Given the description of an element on the screen output the (x, y) to click on. 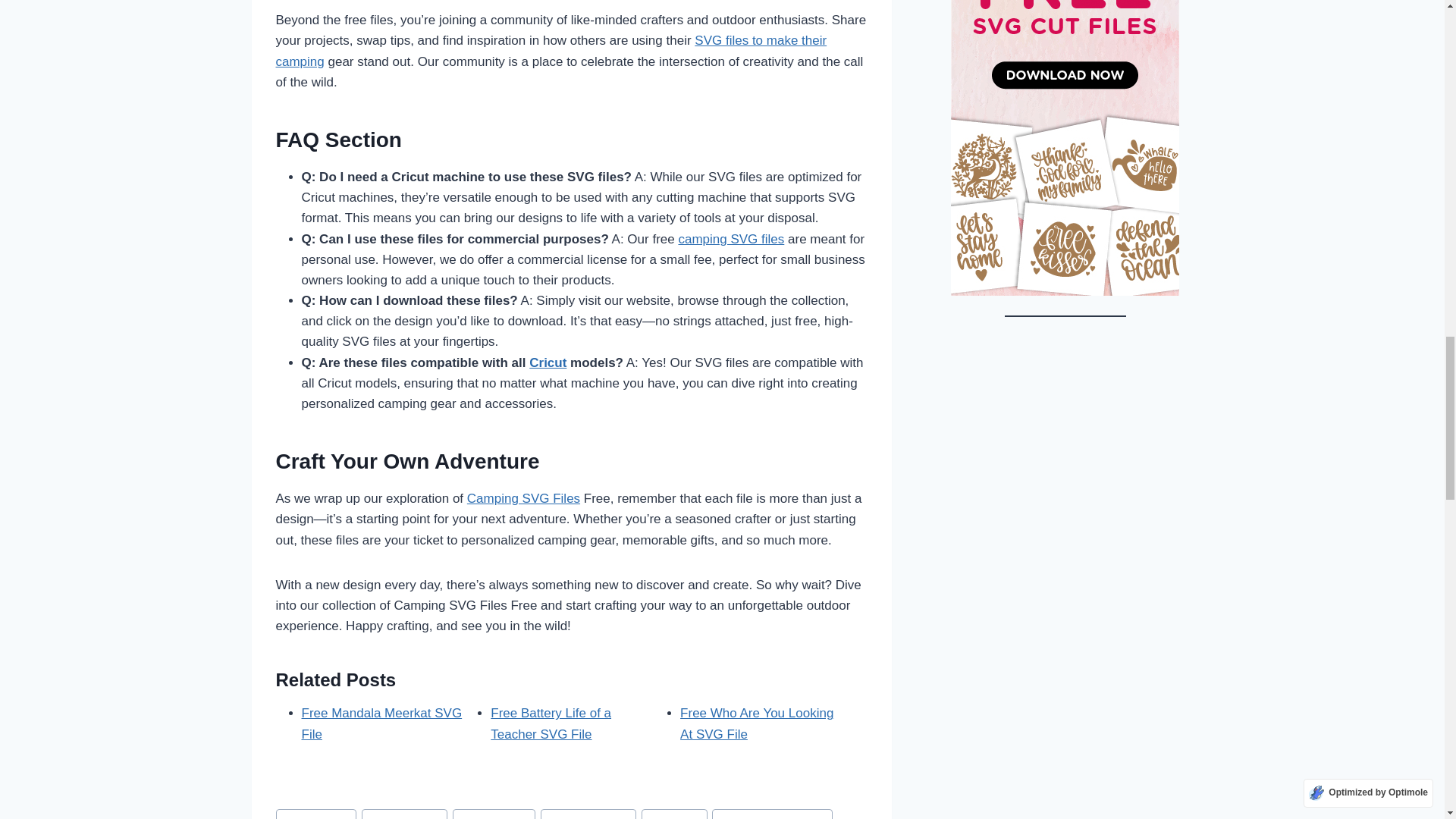
Free SVG (674, 814)
Camping SVG Files (523, 498)
Free Battery Life of a Teacher SVG File (550, 723)
camping SVG files (731, 238)
Free Mandala Meerkat SVG File (382, 723)
free svg cuts for cricut (771, 814)
SVG files to make their camping (551, 50)
Cricut (547, 362)
Free Cutting File (588, 814)
Camper SVG (316, 814)
Free Who Are You Looking At SVG File (755, 723)
Caravan SVG (493, 814)
Camping SVG (403, 814)
